Given the description of an element on the screen output the (x, y) to click on. 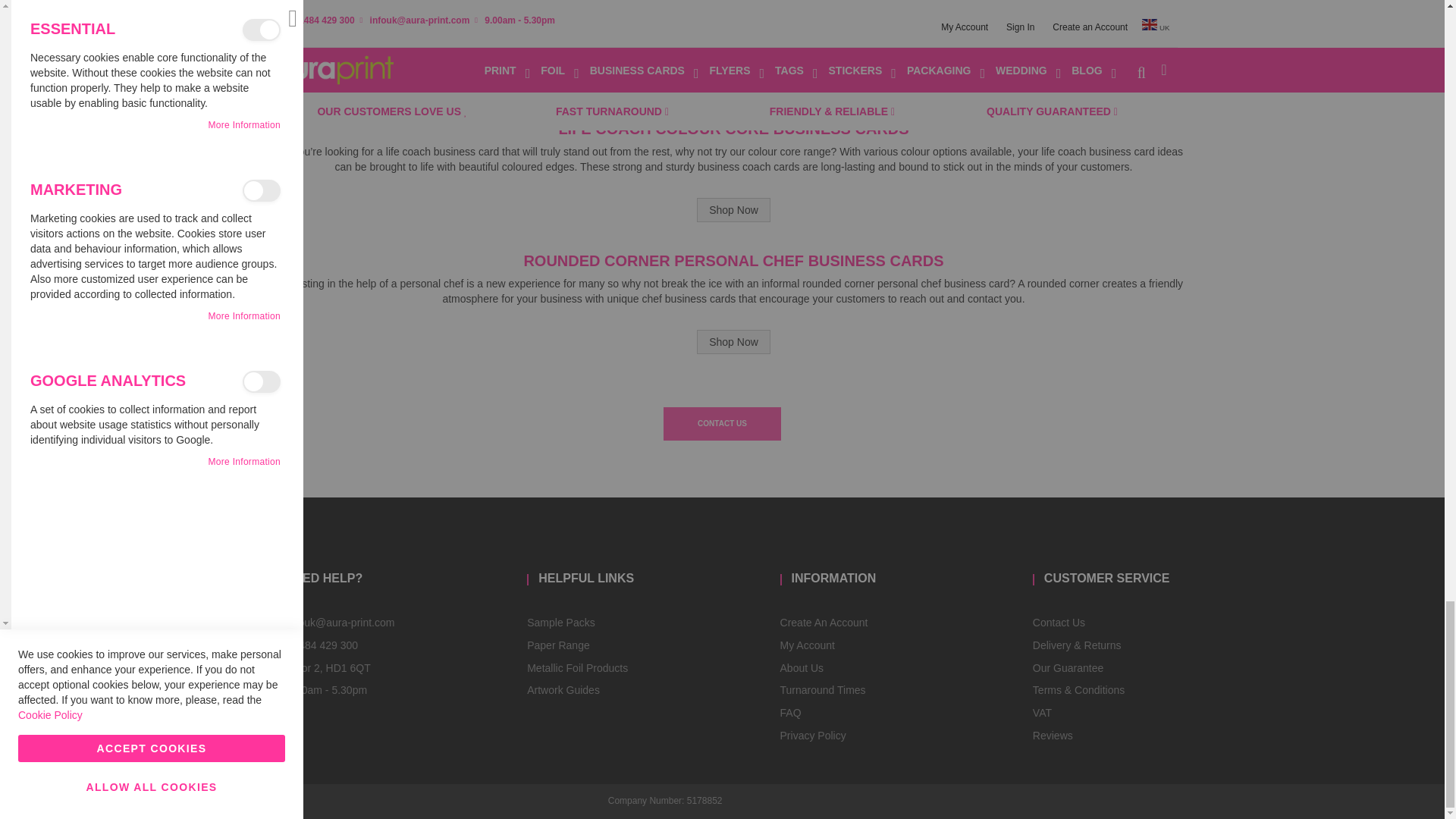
shop now (733, 78)
shop now (733, 209)
shop now (733, 341)
